Given the description of an element on the screen output the (x, y) to click on. 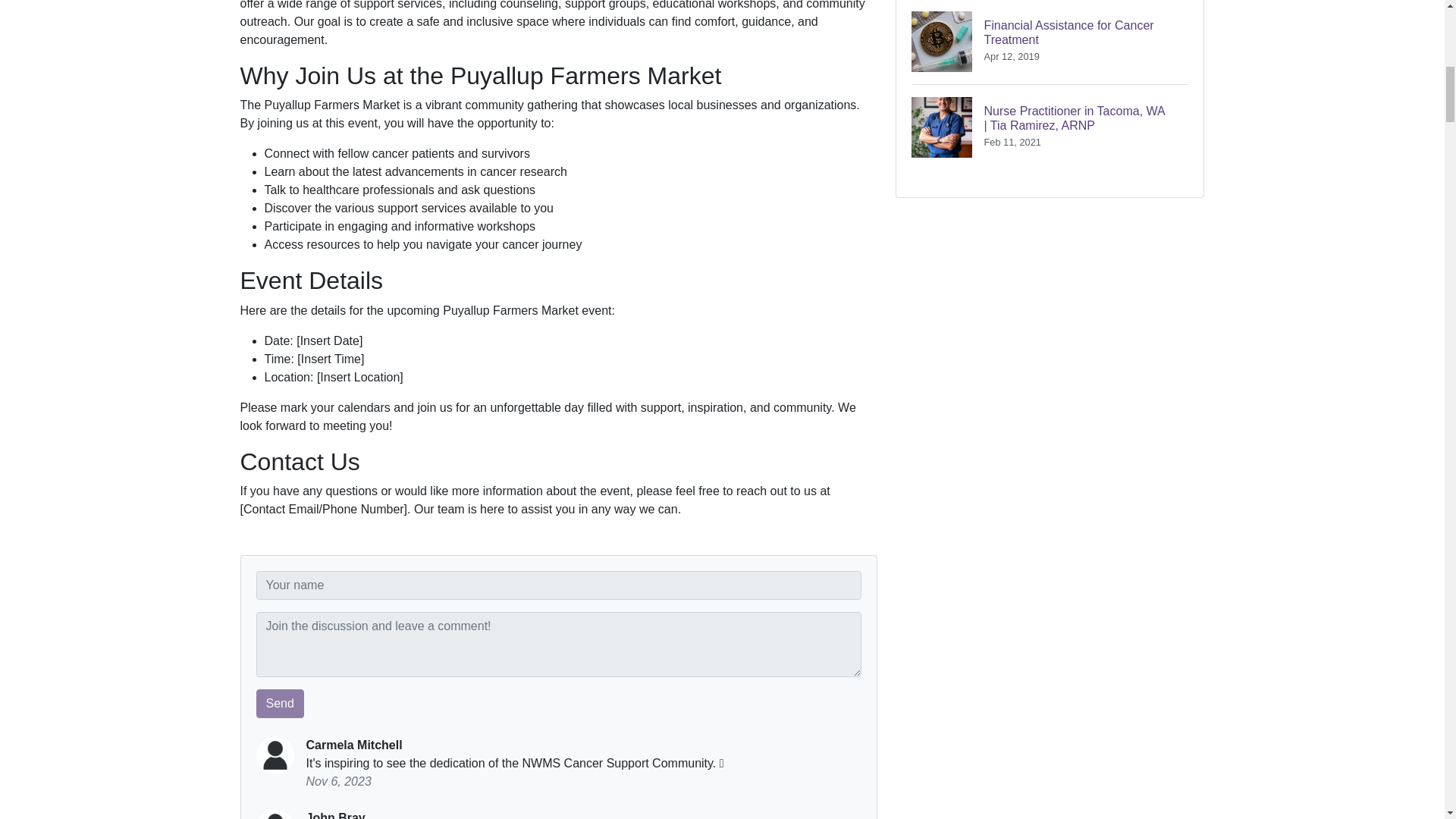
Send (1050, 42)
Send (280, 703)
